Given the description of an element on the screen output the (x, y) to click on. 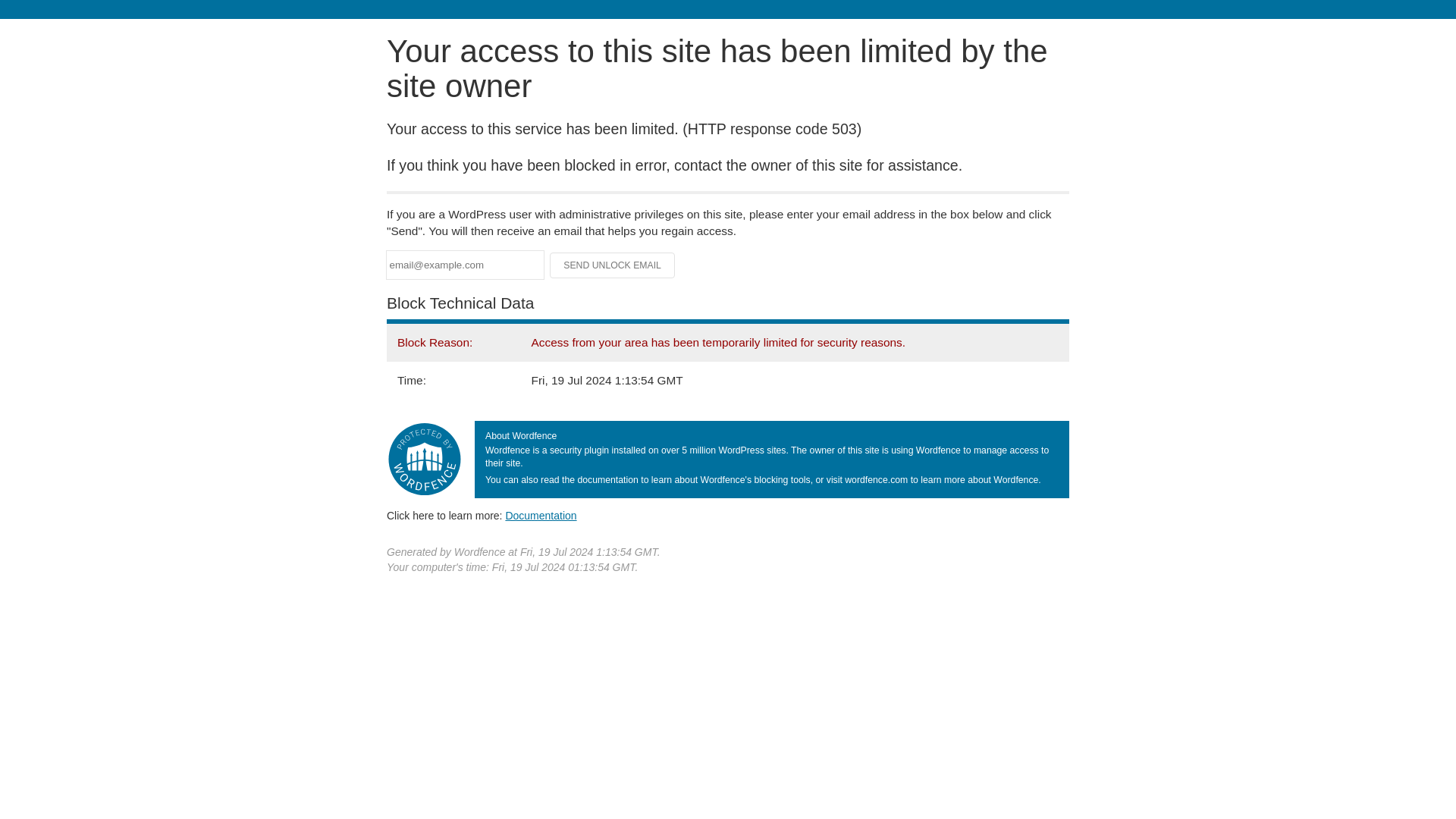
Send Unlock Email (612, 265)
Send Unlock Email (612, 265)
Documentation (540, 515)
